Given the description of an element on the screen output the (x, y) to click on. 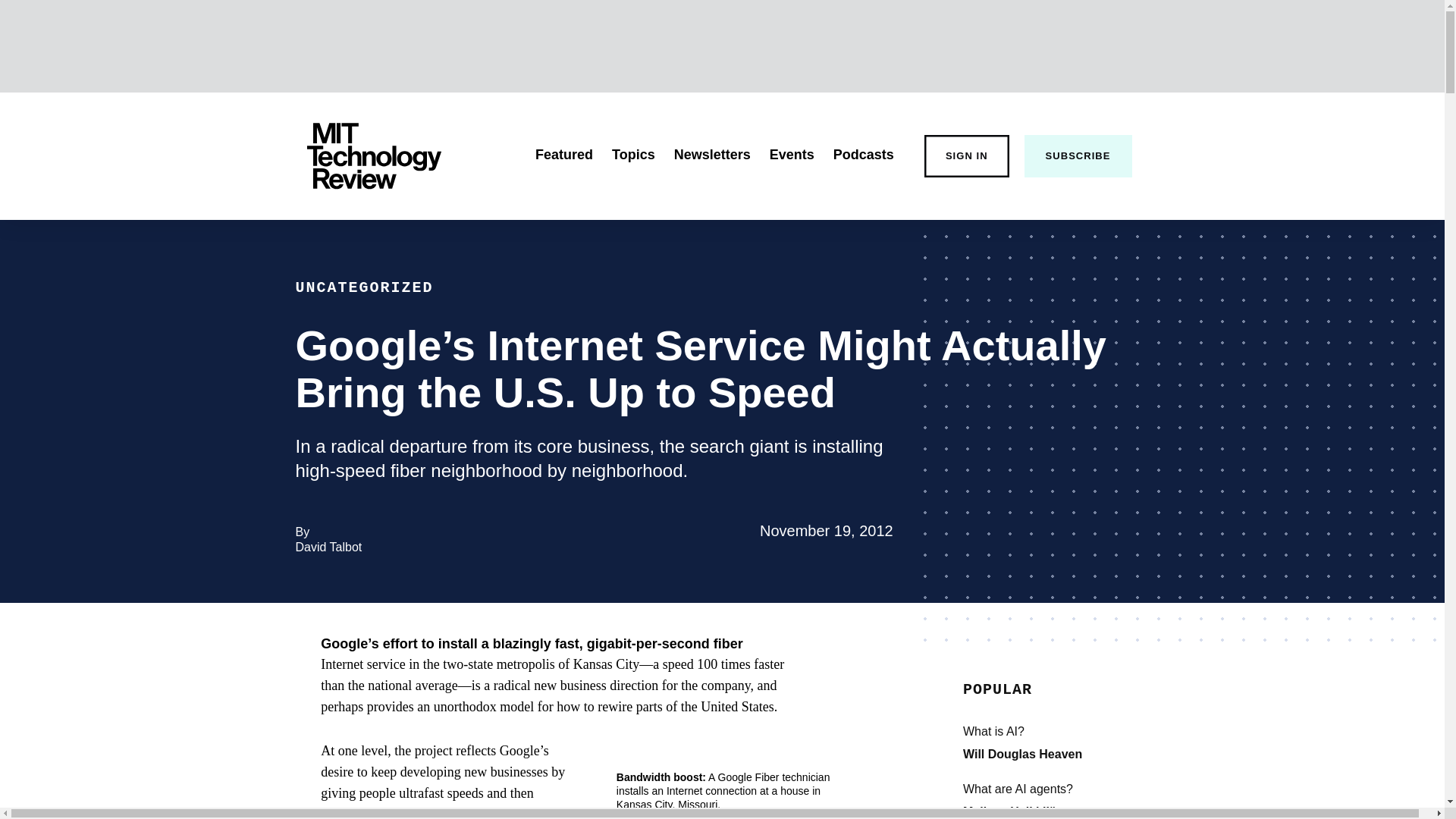
Podcasts (862, 154)
What are AI agents?  (1075, 789)
Newsletters (712, 154)
UNCATEGORIZED (364, 287)
Events (791, 154)
Will Douglas Heaven (328, 546)
Featured (1021, 753)
SIGN IN (563, 154)
MIT Technology Review (966, 156)
